Given the description of an element on the screen output the (x, y) to click on. 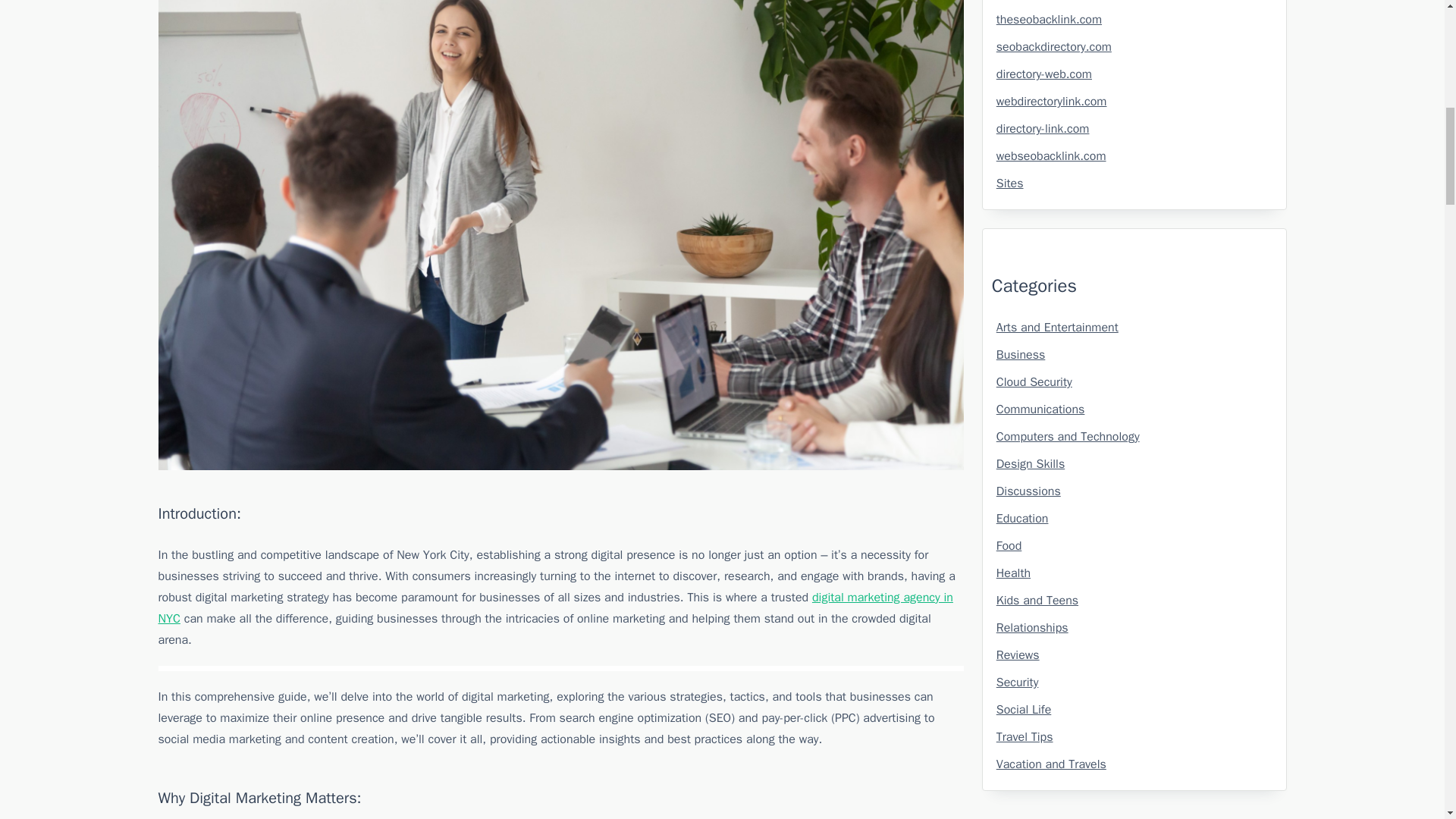
digital marketing agency in NYC (554, 607)
